Given the description of an element on the screen output the (x, y) to click on. 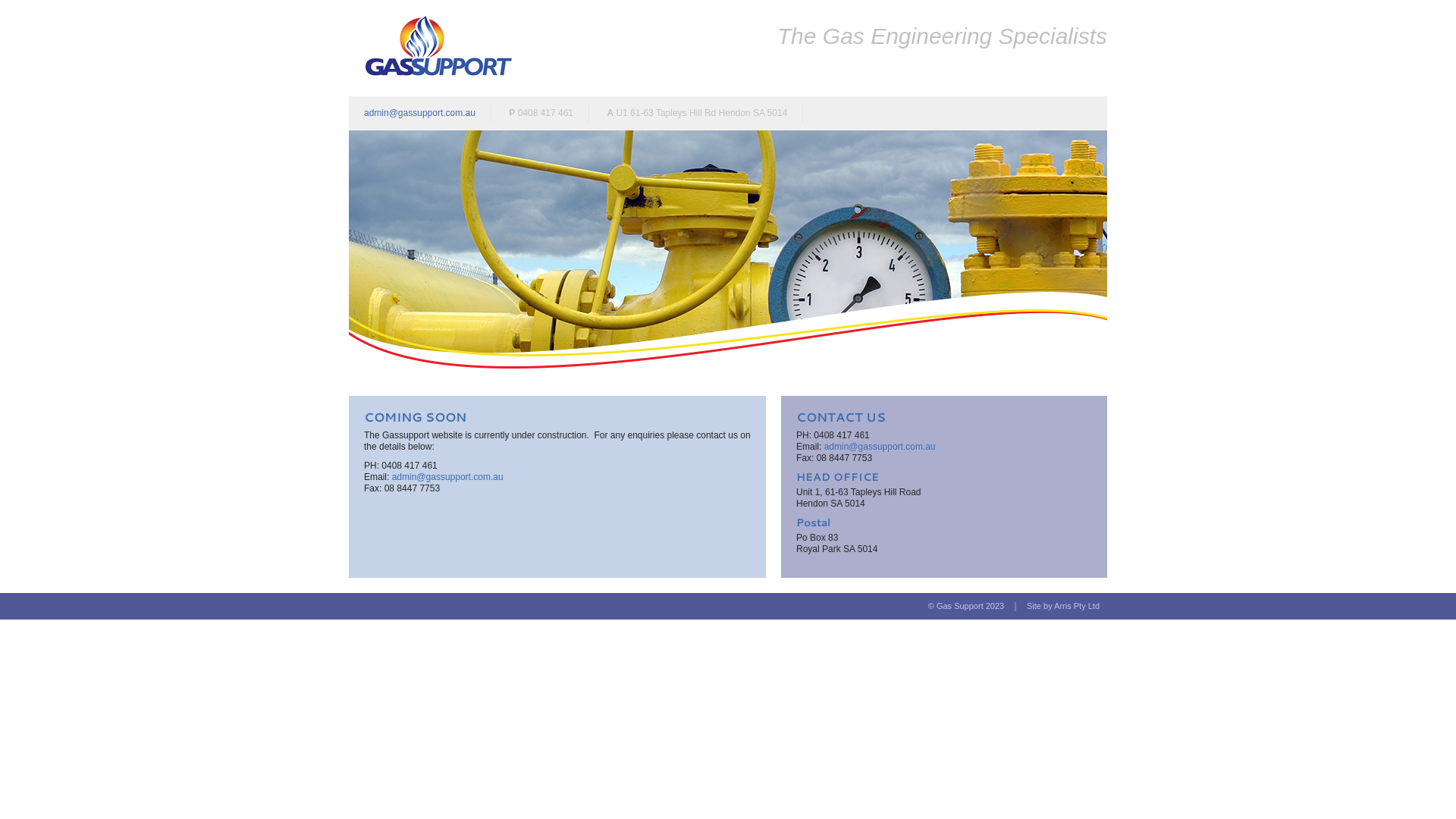
admin@gassupport.com.au Element type: text (419, 112)
admin@gassupport.com.au Element type: text (879, 446)
Site by Arris Pty Ltd Element type: text (1062, 605)
admin@gassupport.com.au Element type: text (447, 476)
